Given the description of an element on the screen output the (x, y) to click on. 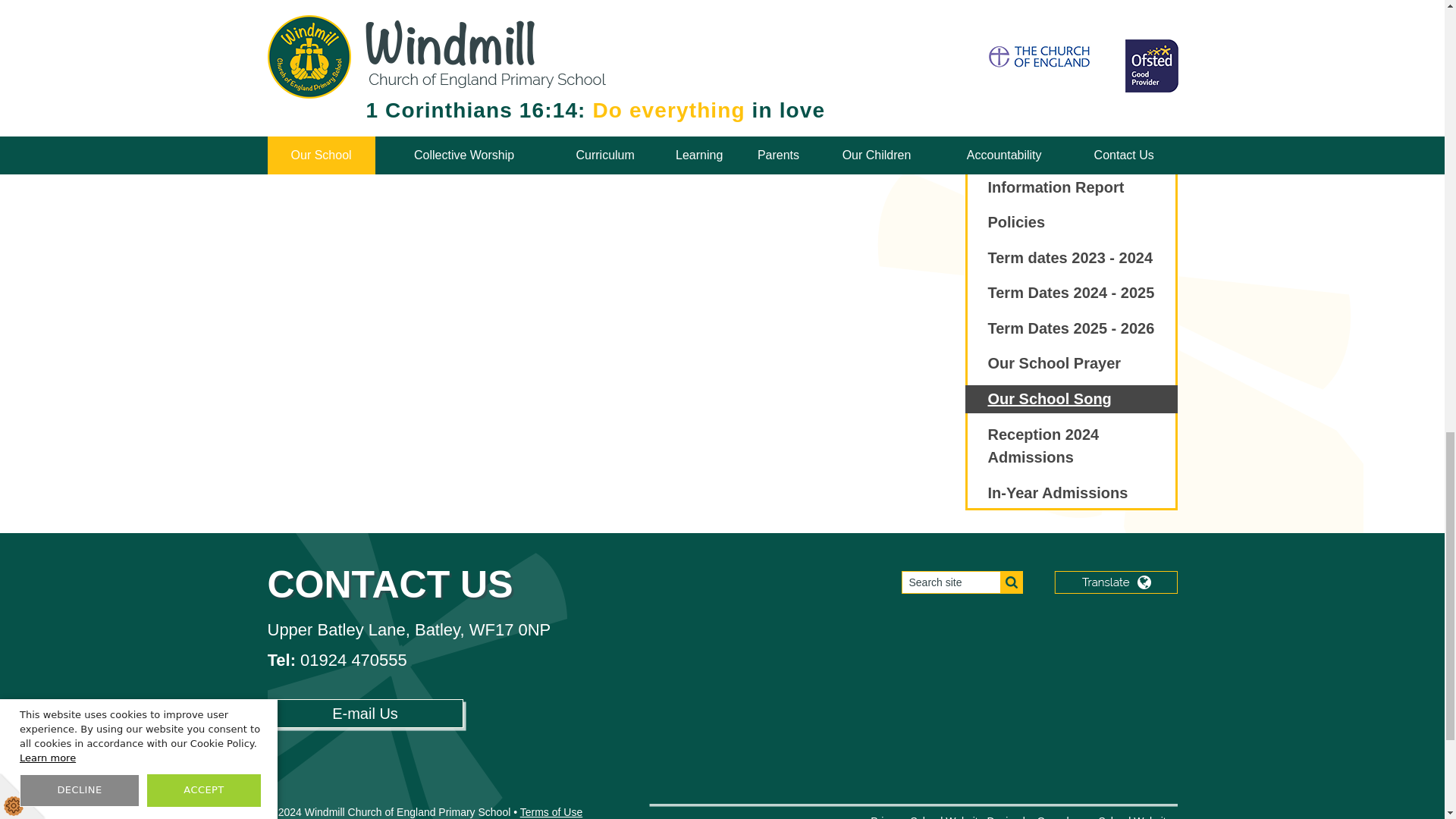
Search site (961, 581)
